Given the description of an element on the screen output the (x, y) to click on. 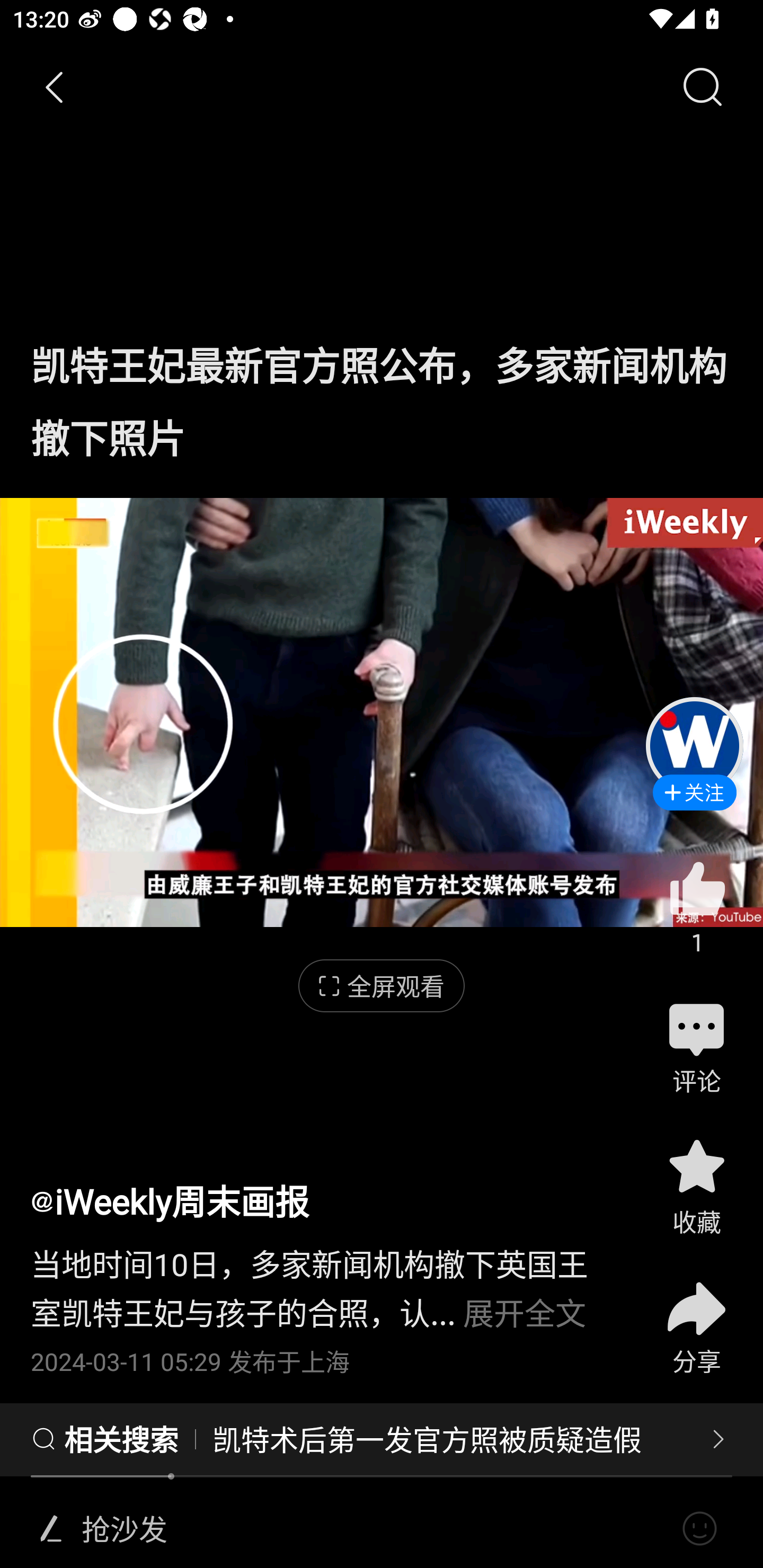
 返回 (54, 87)
 搜索 (701, 87)
赞 1 (696, 906)
全屏观看 (381, 985)
评论  评论 (696, 1045)
收藏 (696, 1184)
iWeekly周末画报 (169, 1200)
分享  分享 (696, 1315)
相关搜索 凯特术后第一发官方照被质疑造假  (381, 1440)
抢沙发 发表评论 (373, 1529)
 (50, 1528)
 (699, 1528)
